Given the description of an element on the screen output the (x, y) to click on. 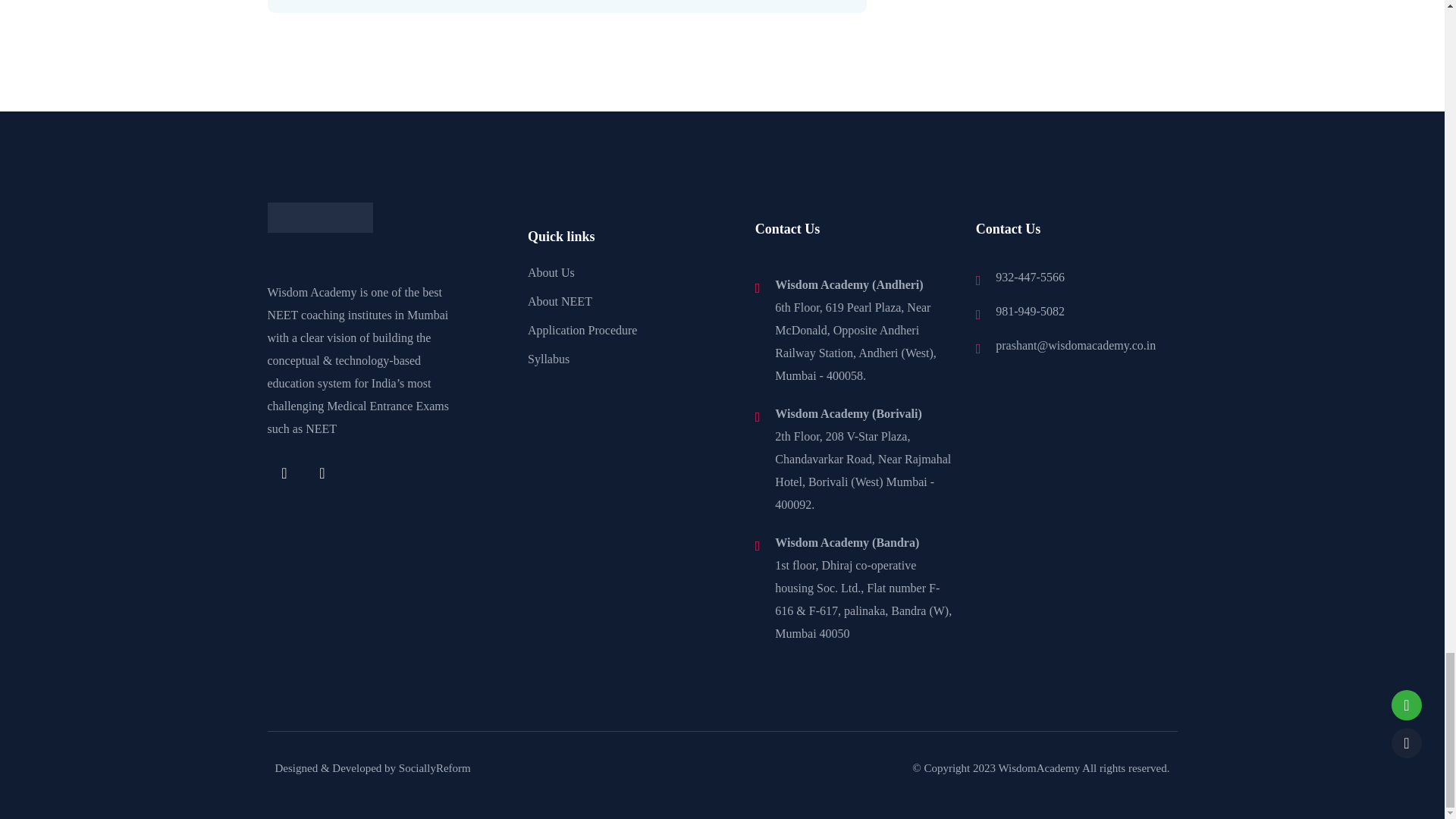
Facebook (283, 472)
Instagram (321, 472)
